Given the description of an element on the screen output the (x, y) to click on. 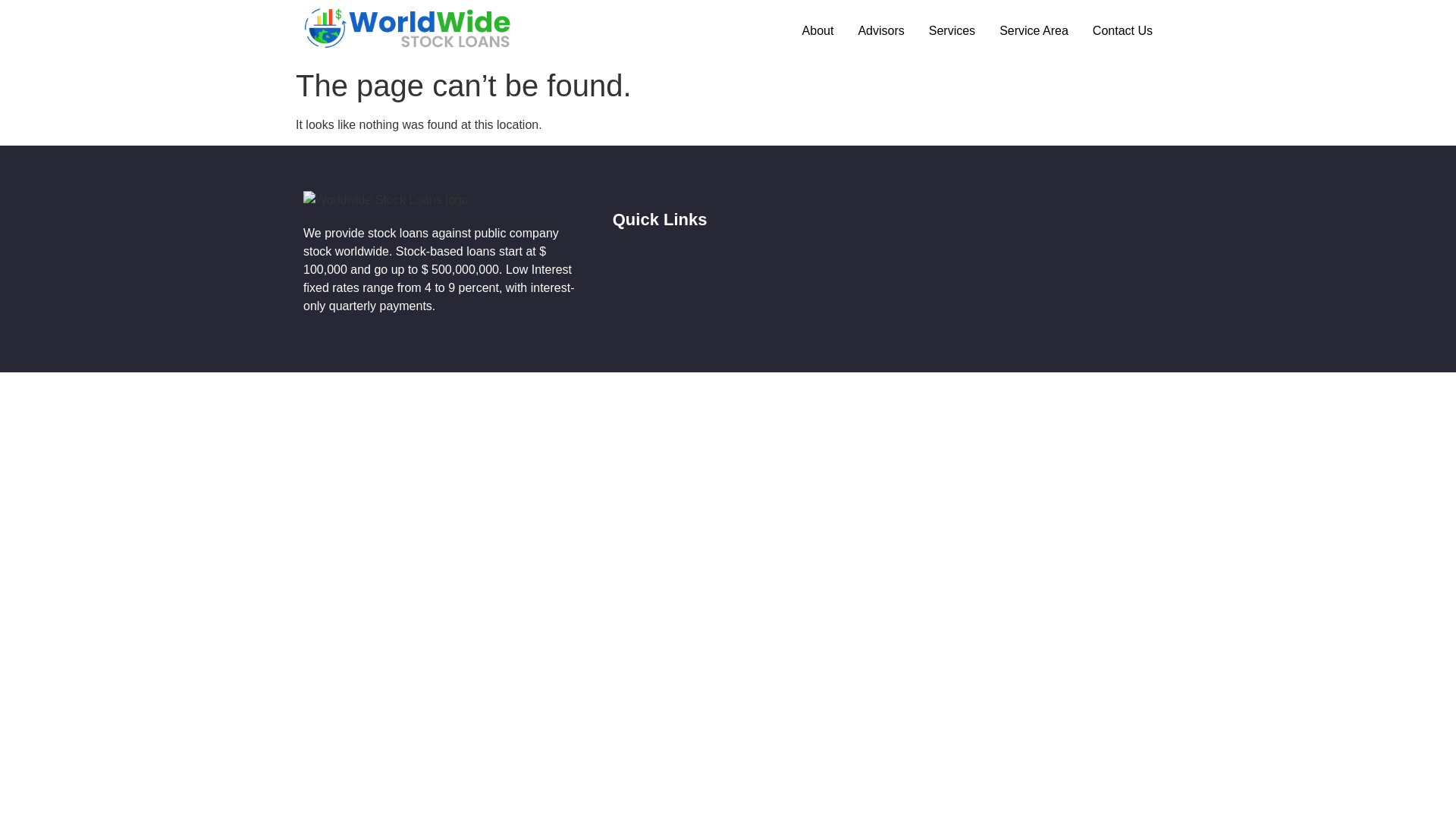
Service Area (1033, 30)
Services (951, 30)
Worldwide Stock Loans logo (397, 199)
Advisors (880, 30)
Contact Us (1123, 30)
About (818, 30)
